Given the description of an element on the screen output the (x, y) to click on. 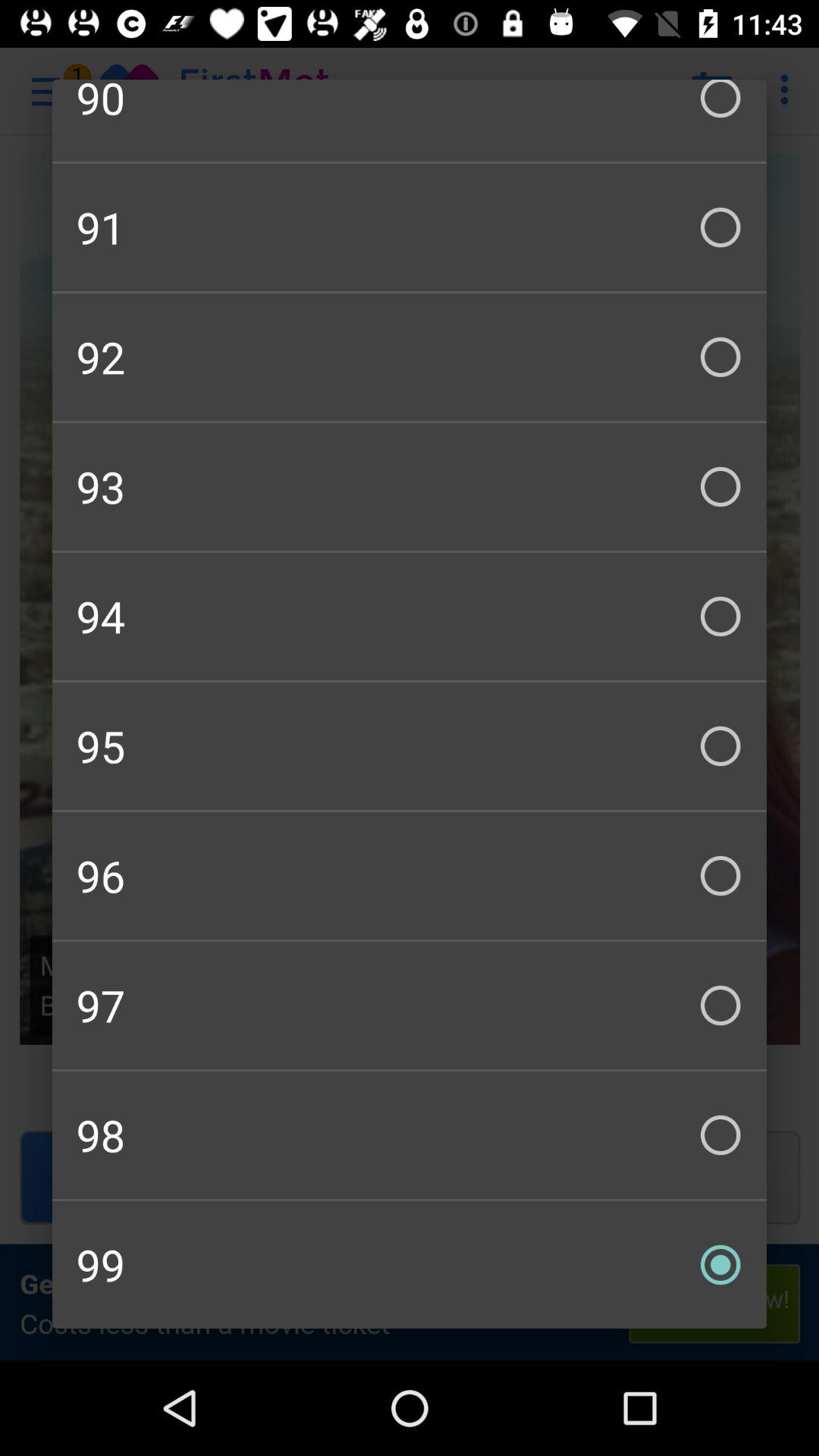
swipe until 95 icon (409, 745)
